Given the description of an element on the screen output the (x, y) to click on. 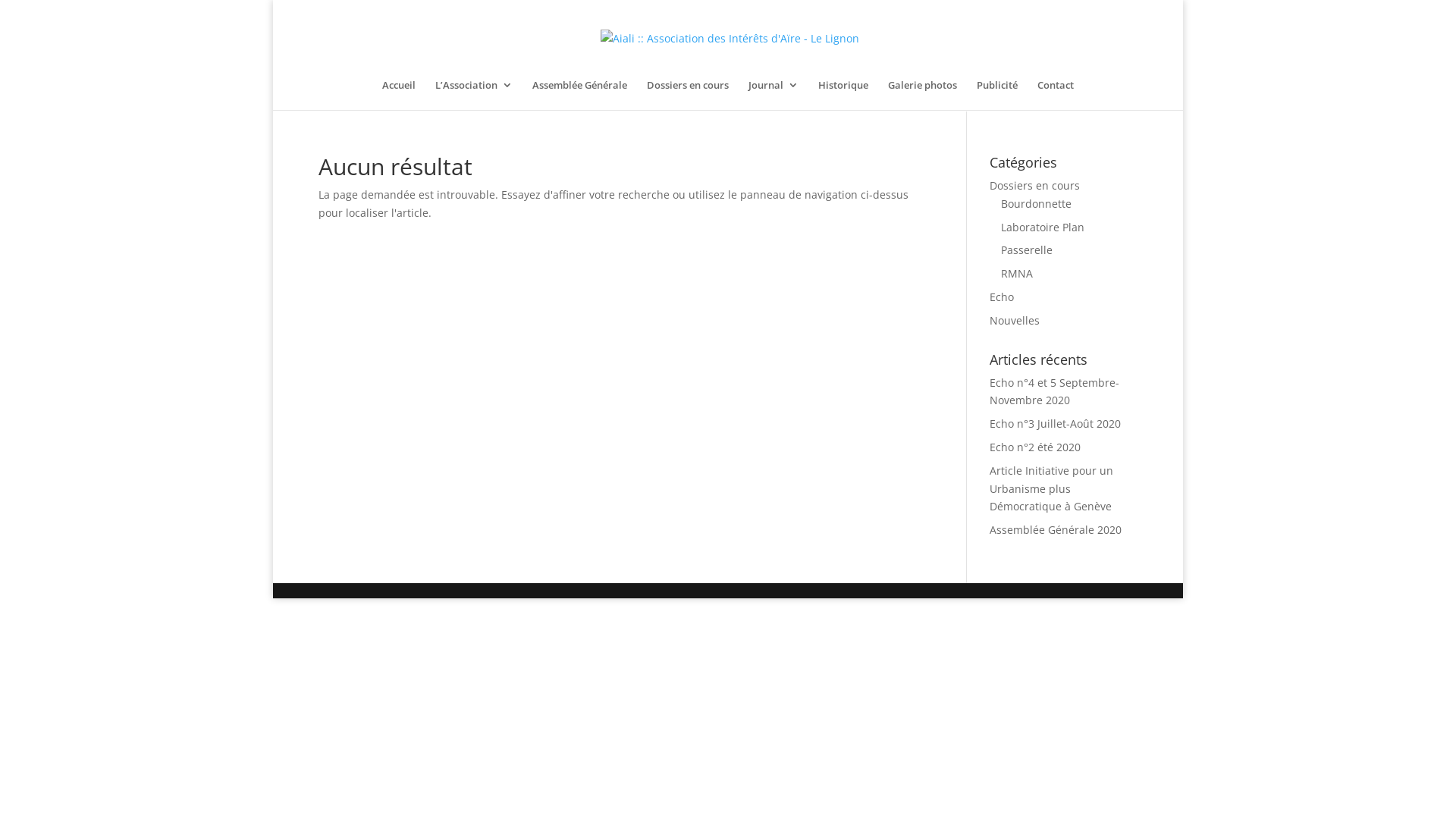
Bourdonnette Element type: text (1036, 203)
Laboratoire Plan Element type: text (1042, 226)
Echo Element type: text (1001, 296)
Historique Element type: text (843, 94)
Contact Element type: text (1055, 94)
Passerelle Element type: text (1026, 249)
RMNA Element type: text (1016, 273)
Galerie photos Element type: text (922, 94)
Dossiers en cours Element type: text (1034, 185)
Journal Element type: text (773, 94)
Accueil Element type: text (398, 94)
Nouvelles Element type: text (1014, 320)
Dossiers en cours Element type: text (687, 94)
